Given the description of an element on the screen output the (x, y) to click on. 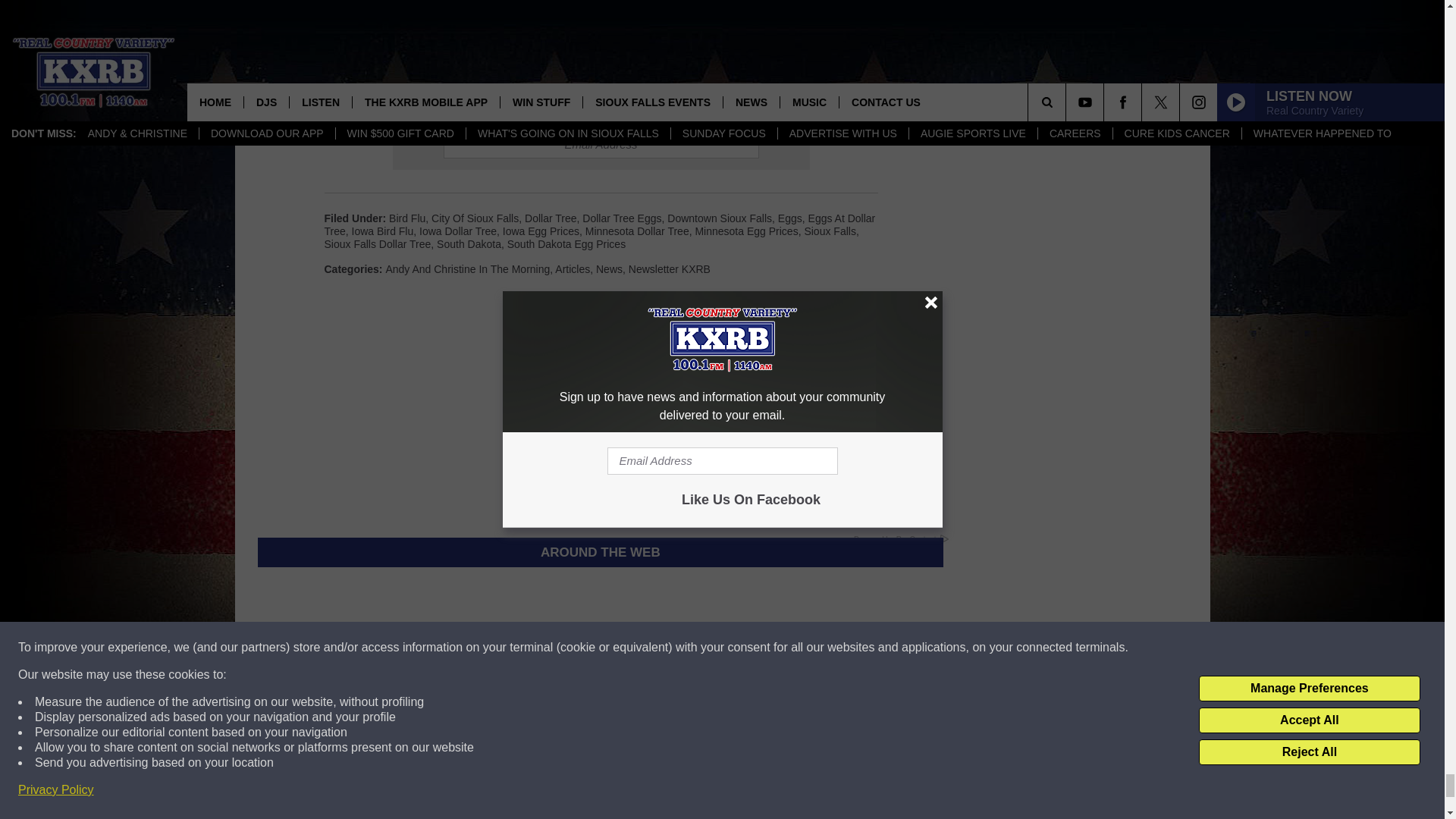
Email Address (600, 144)
